Given the description of an element on the screen output the (x, y) to click on. 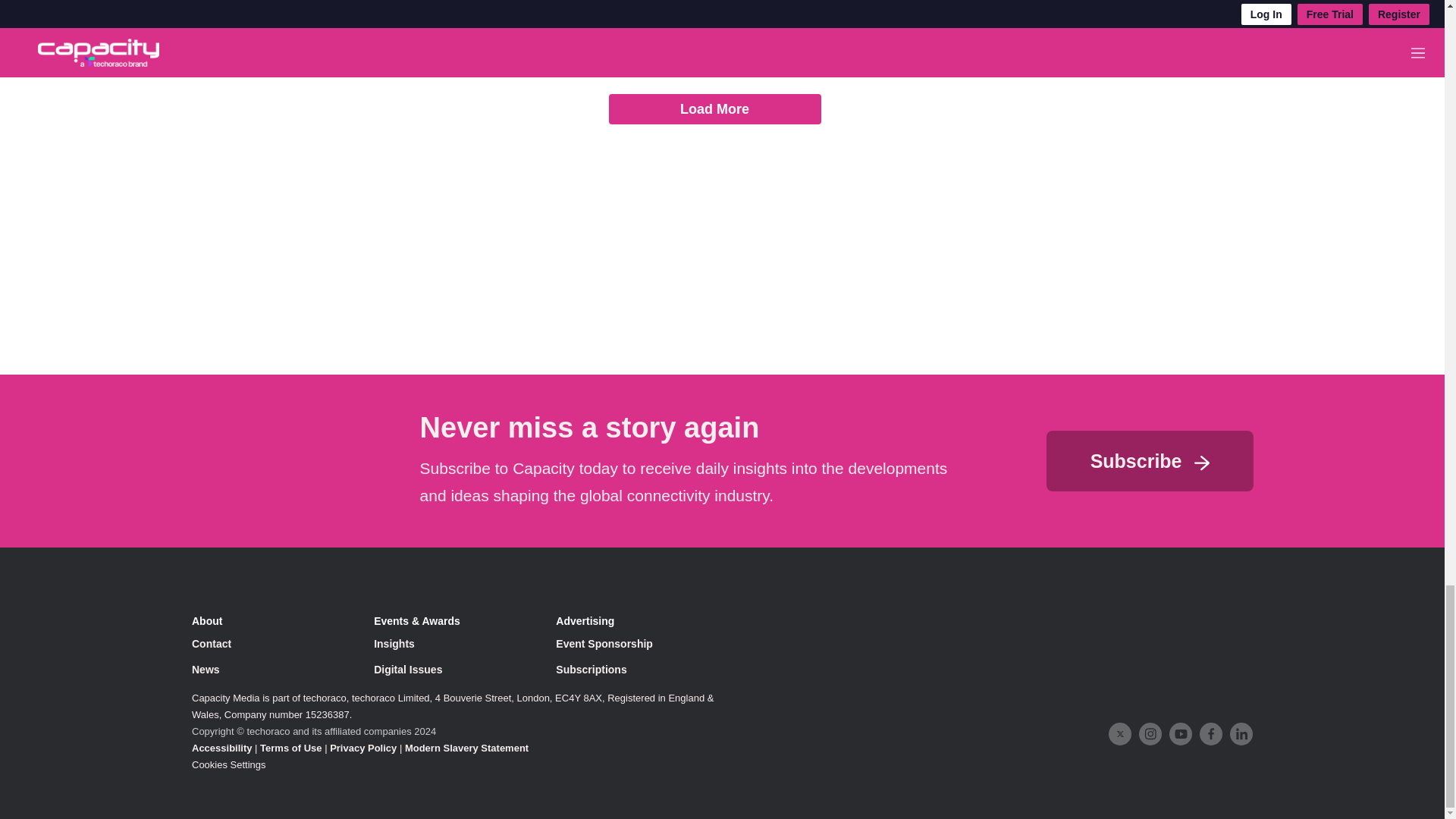
3rd party ad content (715, 242)
